Given the description of an element on the screen output the (x, y) to click on. 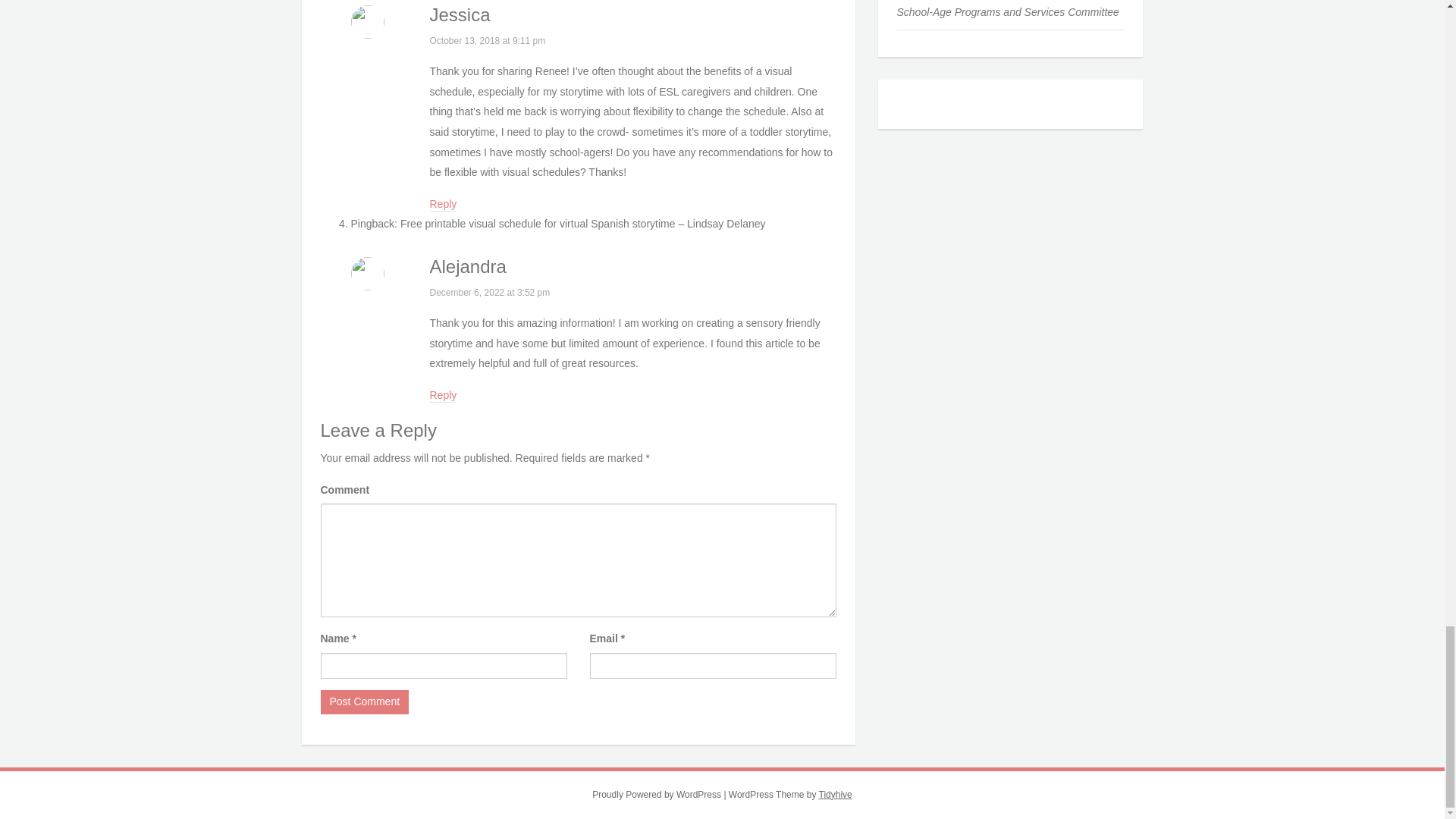
Post Comment (364, 702)
Reply (443, 204)
October 13, 2018 at 9:11 pm (486, 40)
